Given the description of an element on the screen output the (x, y) to click on. 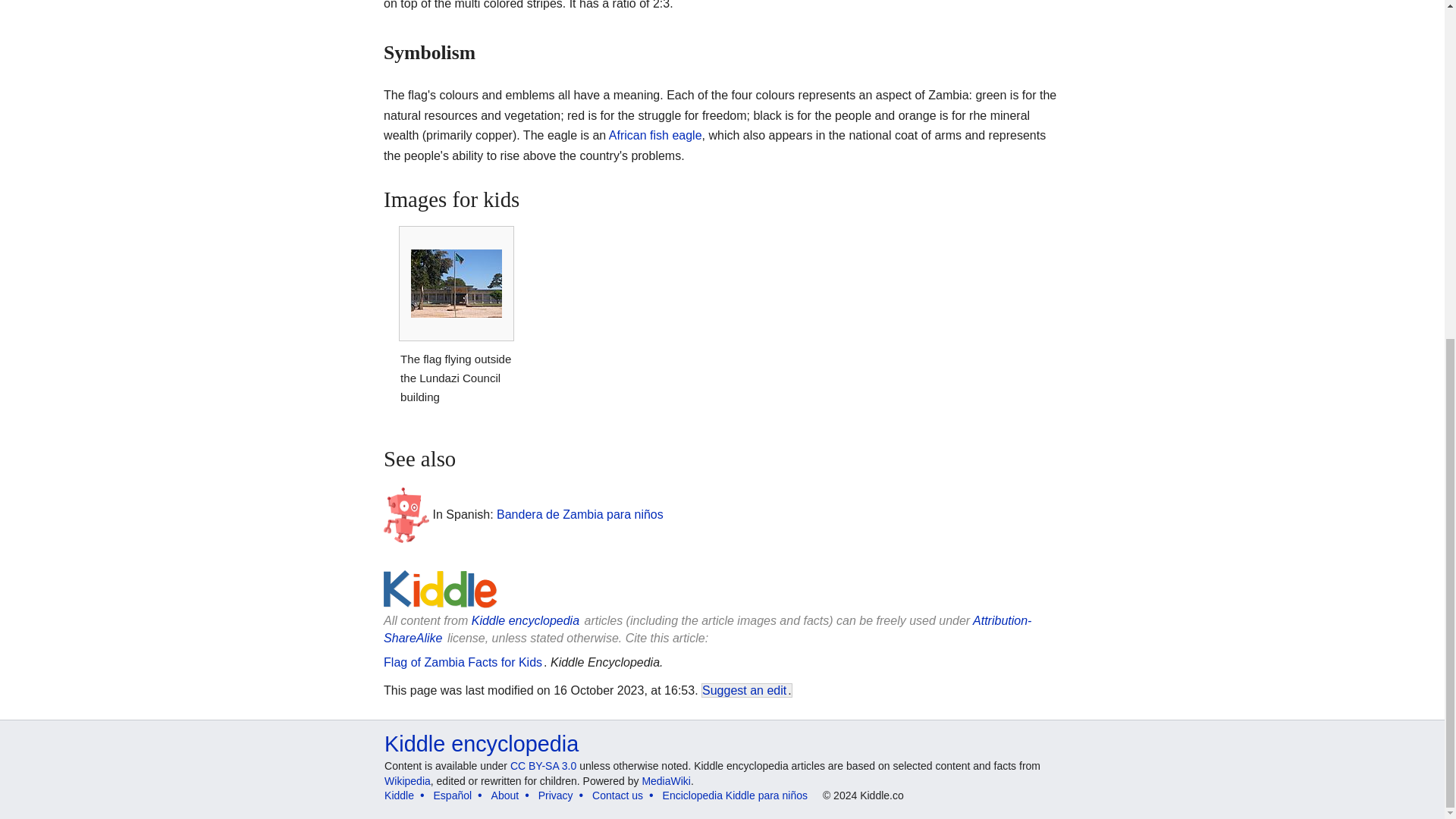
African fish eagle (654, 134)
MediaWiki (666, 780)
Kiddle (398, 795)
Attribution-ShareAlike (707, 628)
About (505, 795)
Kiddle encyclopedia (481, 743)
CC BY-SA 3.0 (543, 766)
Wikipedia (407, 780)
Flag of Zambia Facts for Kids (462, 662)
Suggest an edit (743, 689)
African fish eagle (654, 134)
Kiddle encyclopedia (525, 620)
Privacy (555, 795)
